Given the description of an element on the screen output the (x, y) to click on. 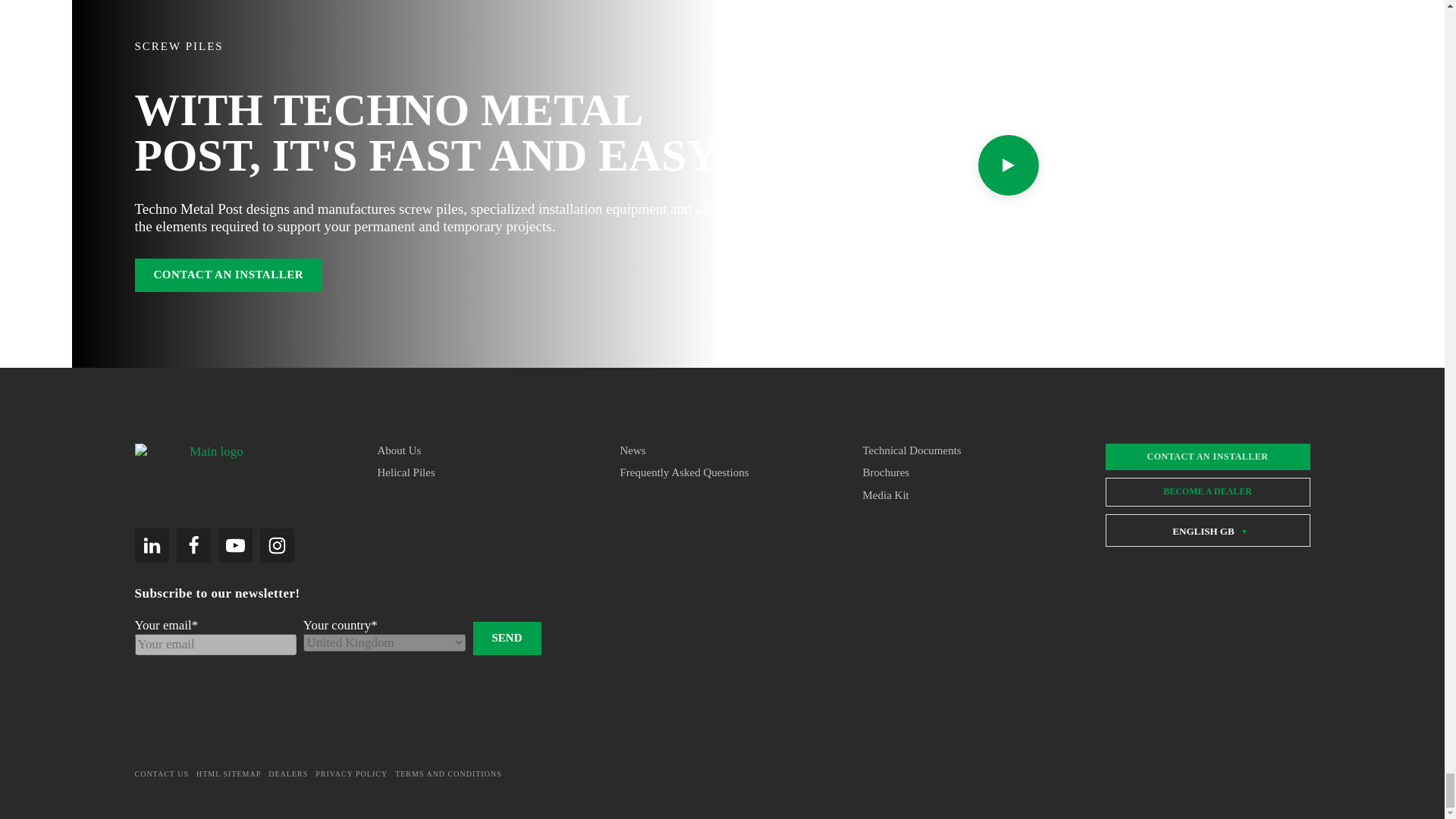
Instagram (276, 545)
YouTube (234, 545)
Send (507, 638)
Facebook (192, 545)
LinkedIn (151, 545)
